Given the description of an element on the screen output the (x, y) to click on. 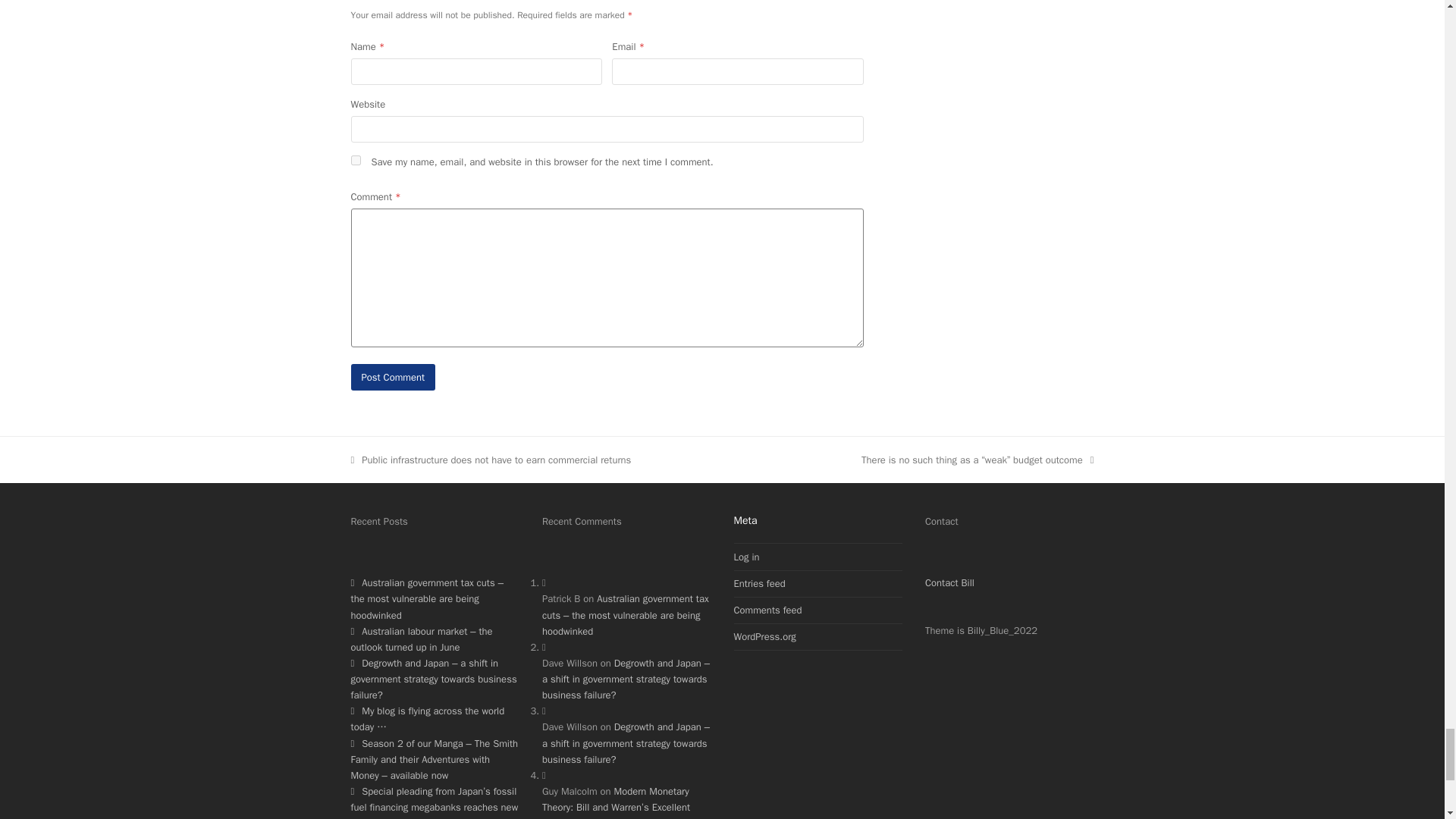
yes (354, 160)
Post Comment (392, 376)
